Given the description of an element on the screen output the (x, y) to click on. 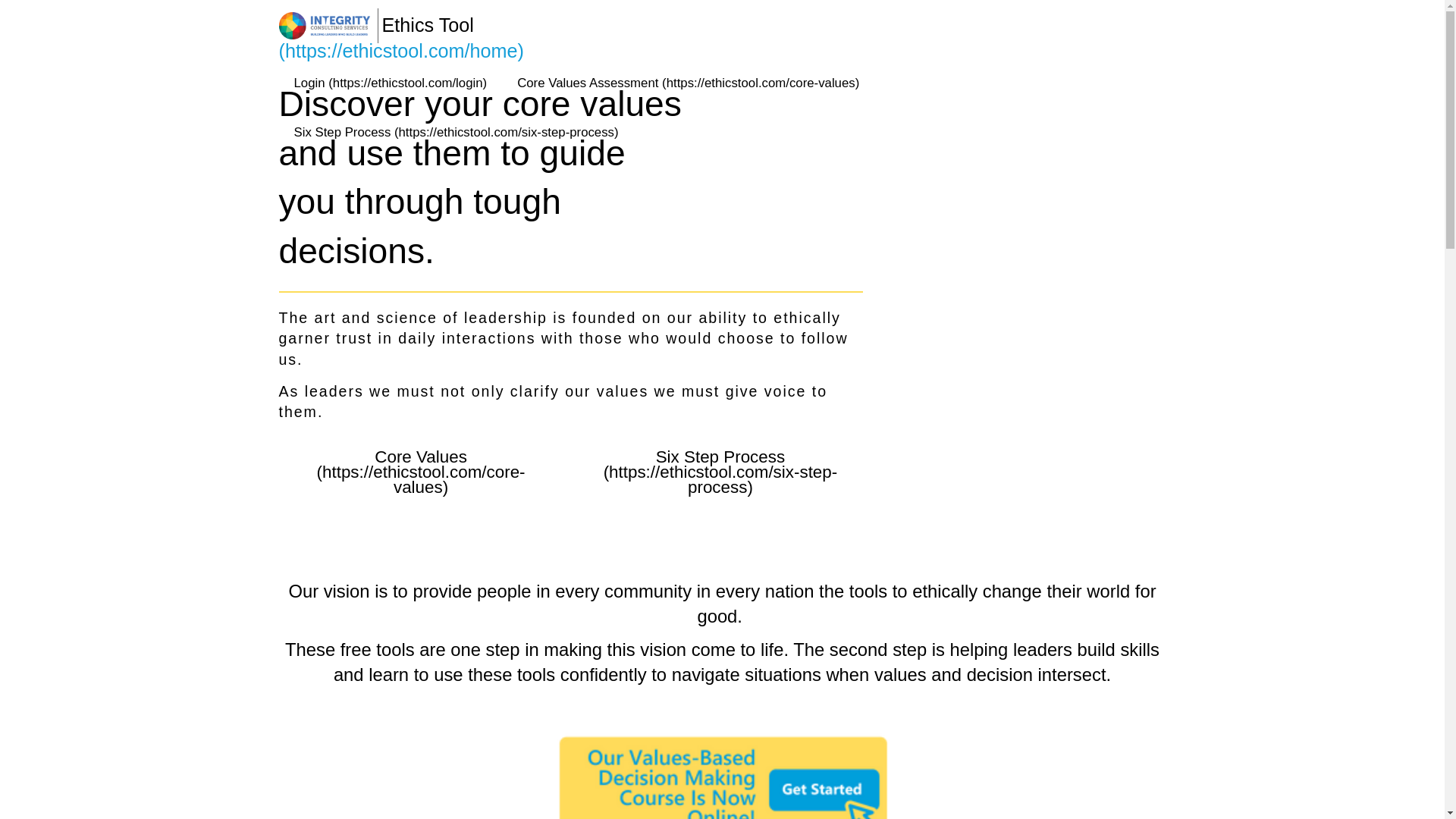
Core Values (421, 472)
Ethics Tool (401, 66)
Login (390, 82)
Six Step Process (719, 472)
Six Step Process (456, 132)
Core Values Assessment (688, 82)
